Given the description of an element on the screen output the (x, y) to click on. 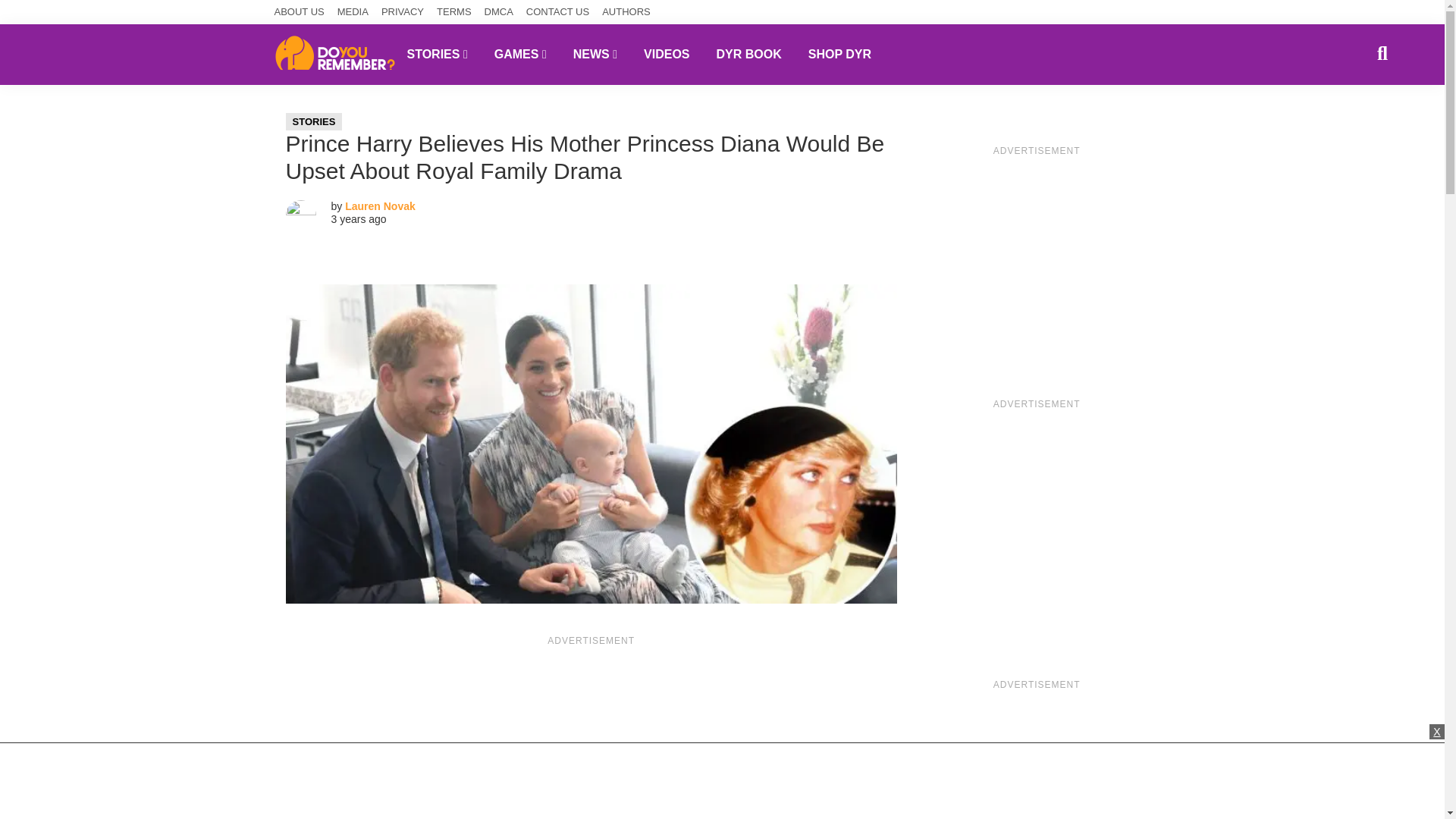
VIDEOS (665, 54)
DMCA (498, 12)
SHOP DYR (839, 54)
NEWS (595, 54)
CONTACT US (557, 12)
TERMS (453, 12)
ABOUT US (299, 12)
3rd party ad content (1036, 757)
STORIES (437, 54)
3rd party ad content (590, 736)
3rd party ad content (1036, 521)
MEDIA (352, 12)
GAMES (520, 54)
STORIES (314, 121)
